Given the description of an element on the screen output the (x, y) to click on. 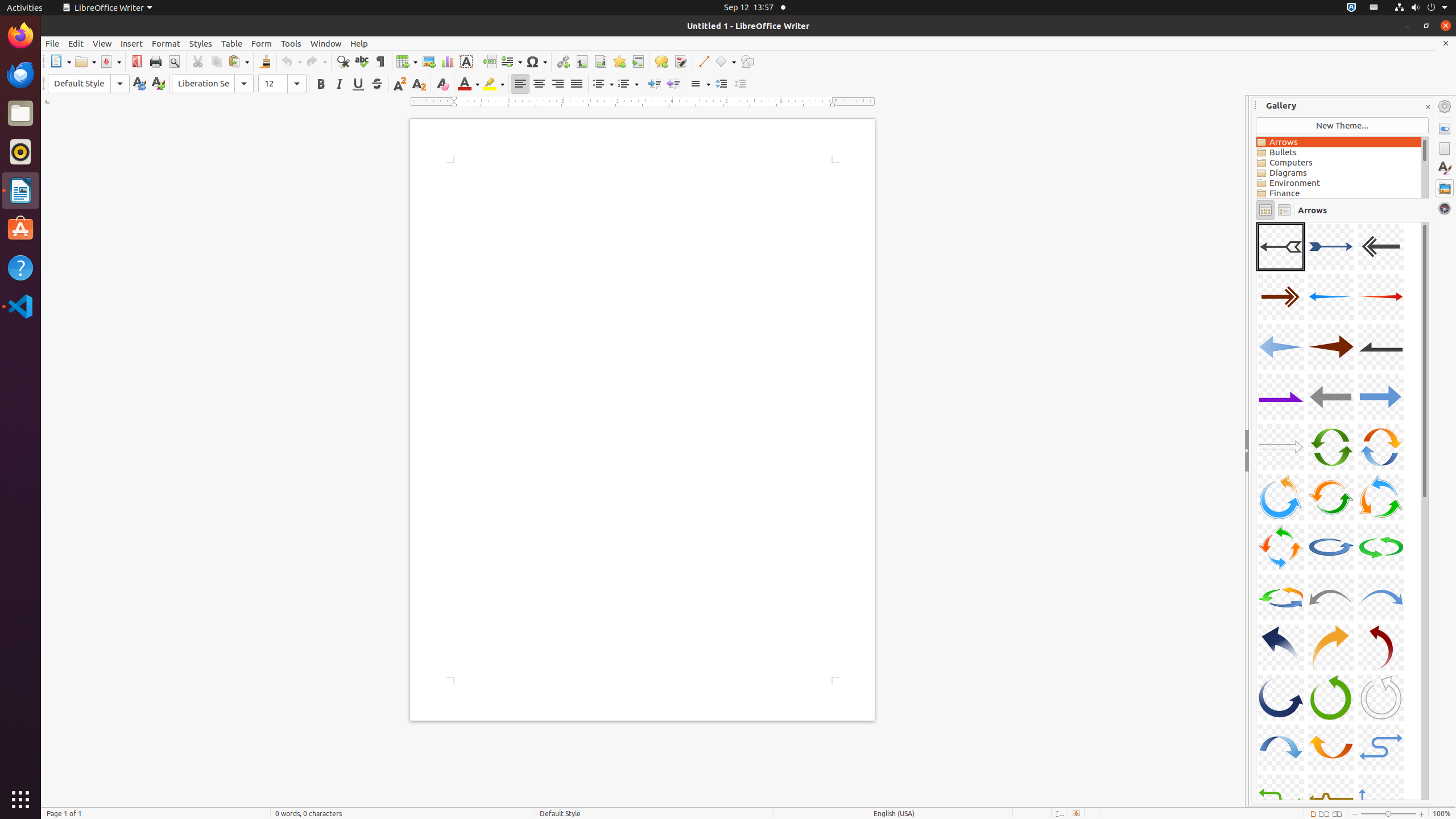
View Element type: menu (102, 43)
Paragraph Style Element type: combo-box (88, 83)
Center Element type: toggle-button (538, 83)
A03-Arrow-Gray-Left Element type: list-item (1380, 246)
Chart Element type: push-button (446, 61)
